Given the description of an element on the screen output the (x, y) to click on. 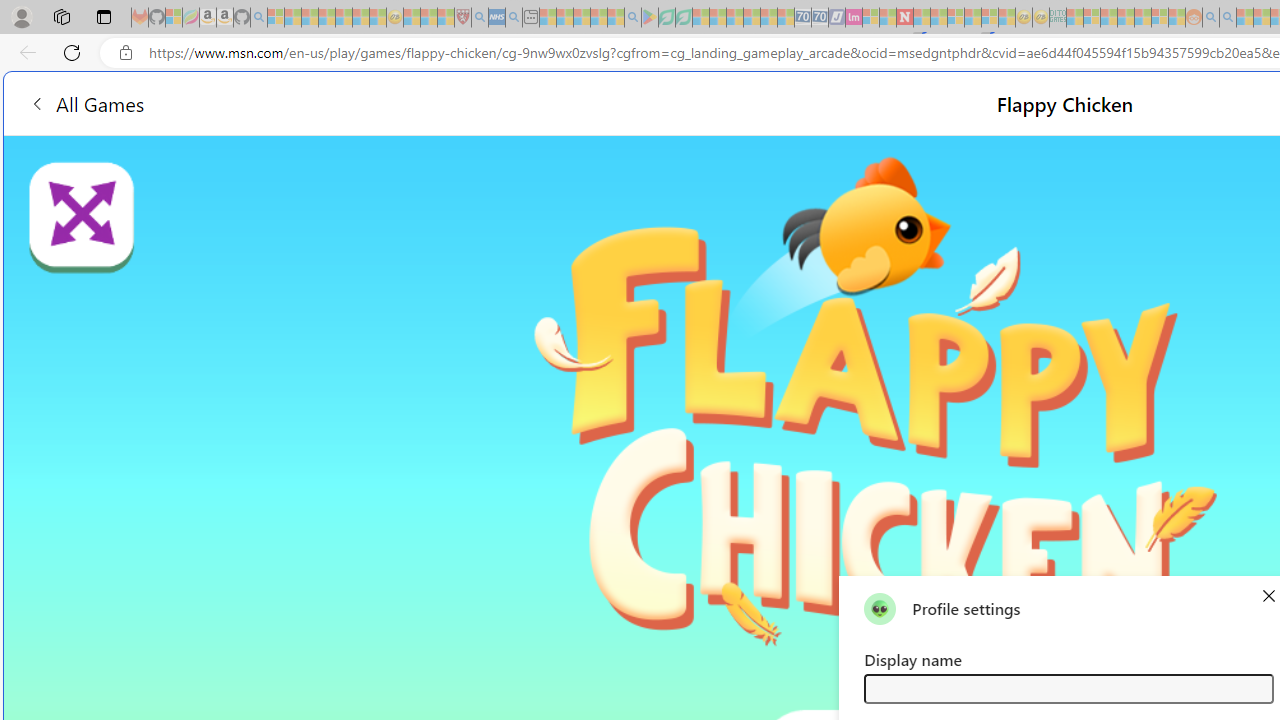
Terms of Use Agreement - Sleeping (666, 17)
